Given the description of an element on the screen output the (x, y) to click on. 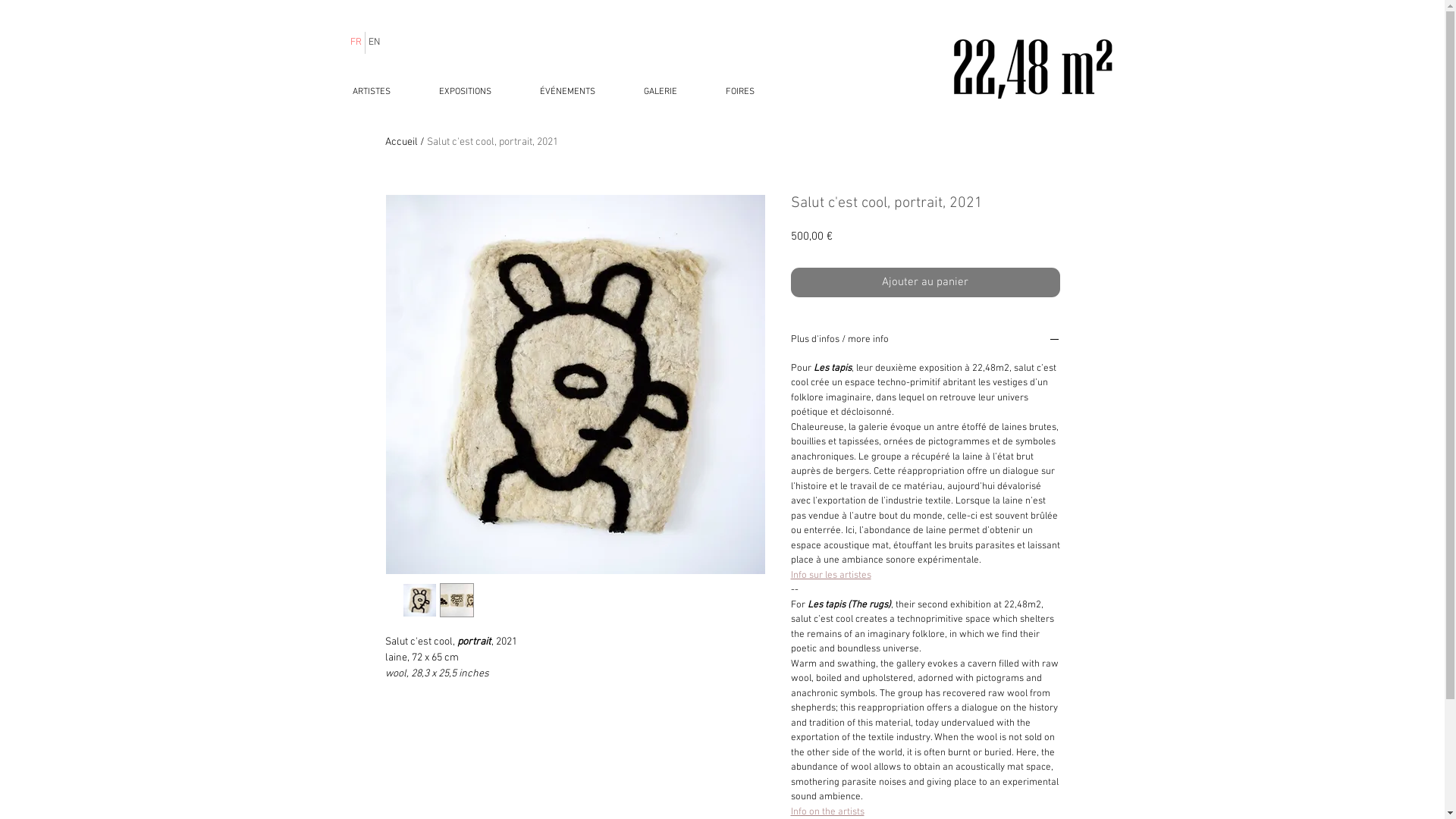
Salut c'est cool, portrait, 2021 Element type: text (491, 141)
FR Element type: text (355, 42)
FOIRES Element type: text (739, 91)
Info sur les artistes Element type: text (830, 574)
Accueil Element type: text (401, 141)
Plus d'infos / more info Element type: text (924, 340)
EXPOSITIONS Element type: text (464, 91)
GALERIE Element type: text (659, 91)
ARTISTES Element type: text (370, 91)
Info on the artists Element type: text (826, 811)
Ajouter au panier Element type: text (924, 282)
EN Element type: text (373, 42)
